Given the description of an element on the screen output the (x, y) to click on. 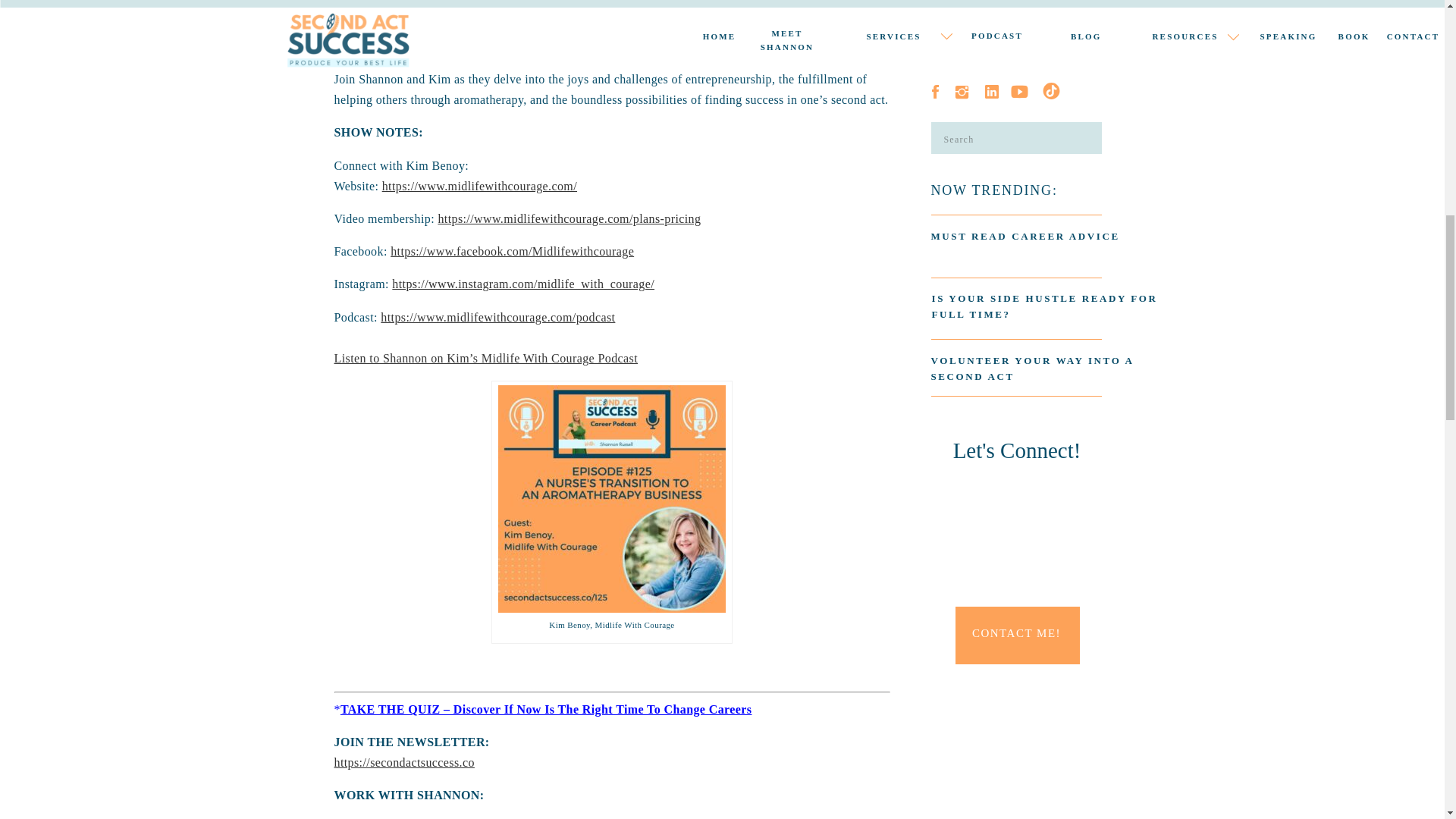
VOLUNTEER YOUR WAY INTO A SECOND ACT (1044, 367)
CONTACT ME! (1016, 635)
MUST READ CAREER ADVICE (1048, 249)
Let's Connect! (1016, 474)
IS YOUR SIDE HUSTLE READY FOR FULL TIME? (1045, 307)
